Given the description of an element on the screen output the (x, y) to click on. 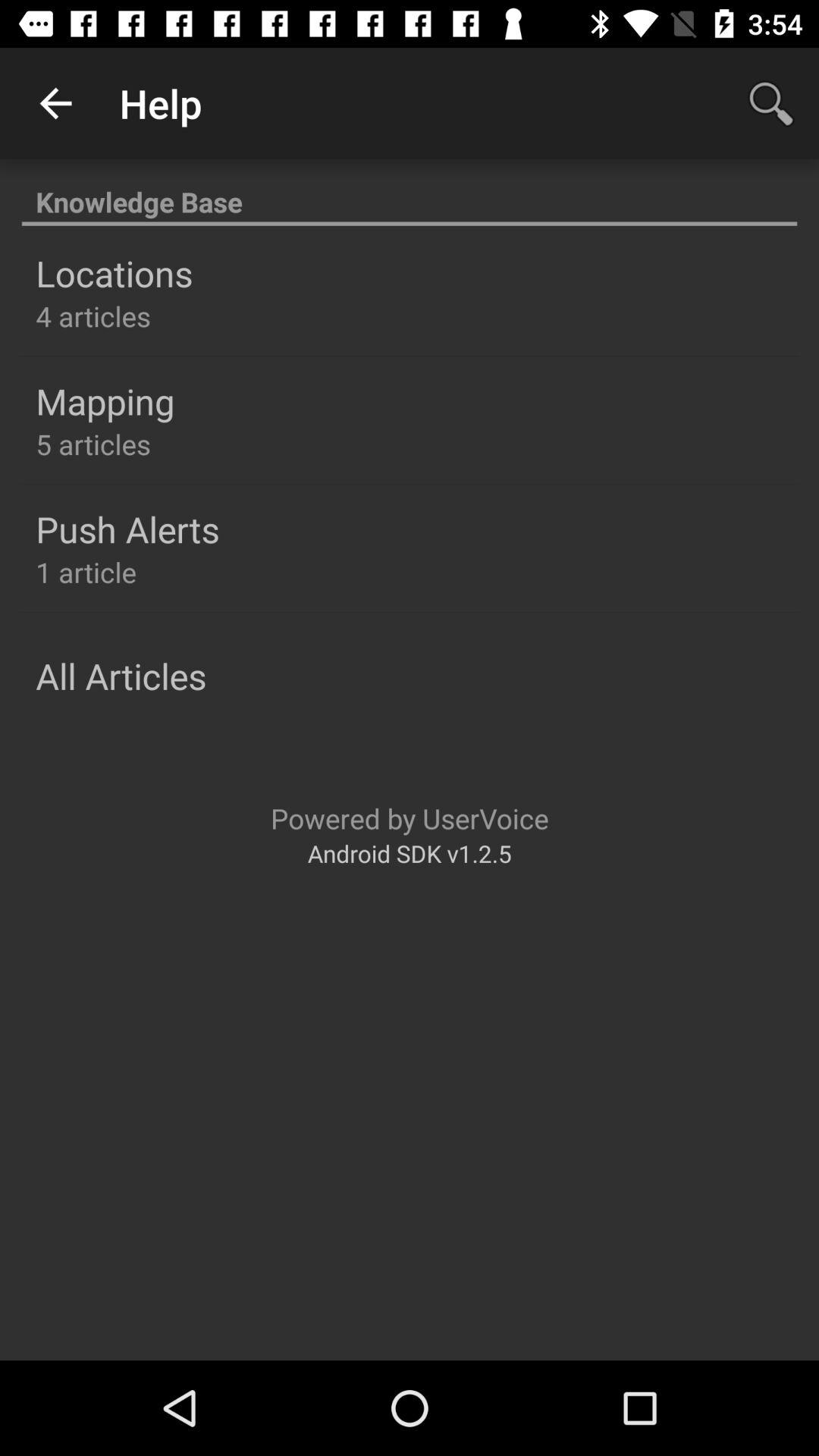
jump until 4 articles icon (92, 315)
